Given the description of an element on the screen output the (x, y) to click on. 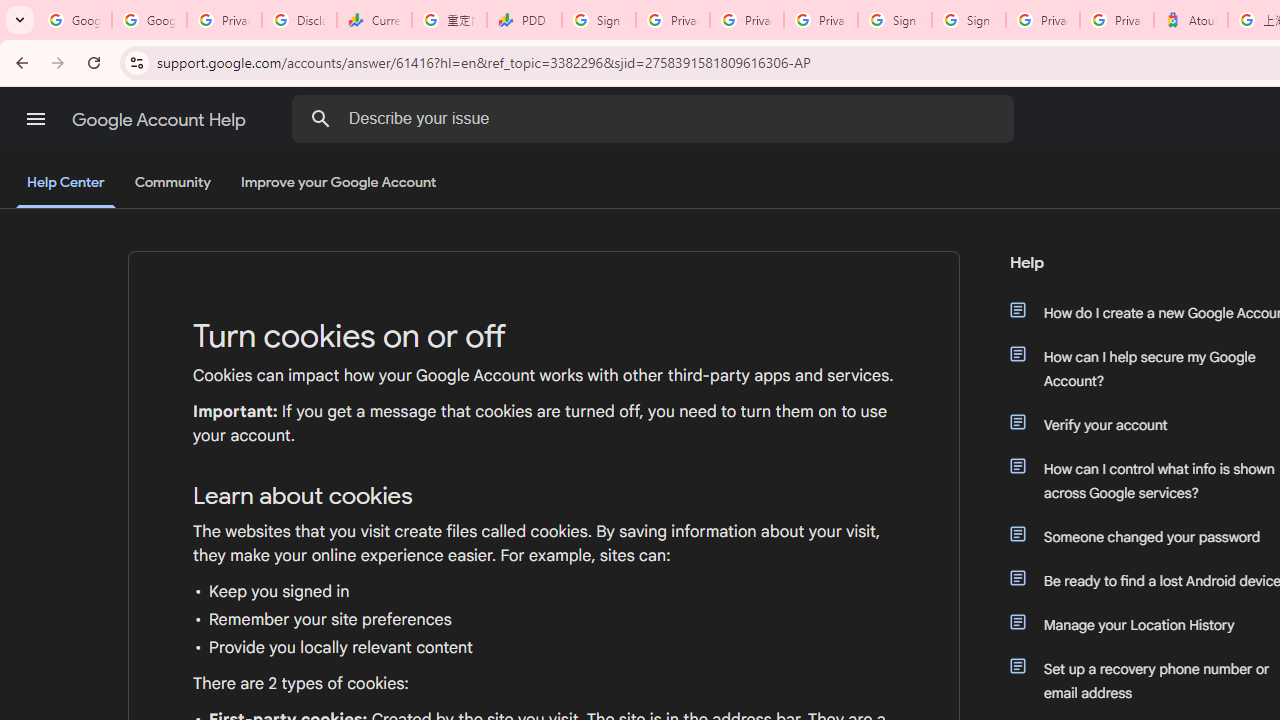
Currencies - Google Finance (374, 20)
Community (171, 183)
Google Account Help (160, 119)
Improve your Google Account (339, 183)
Sign in - Google Accounts (598, 20)
PDD Holdings Inc - ADR (PDD) Price & News - Google Finance (523, 20)
Privacy Checkup (820, 20)
